Given the description of an element on the screen output the (x, y) to click on. 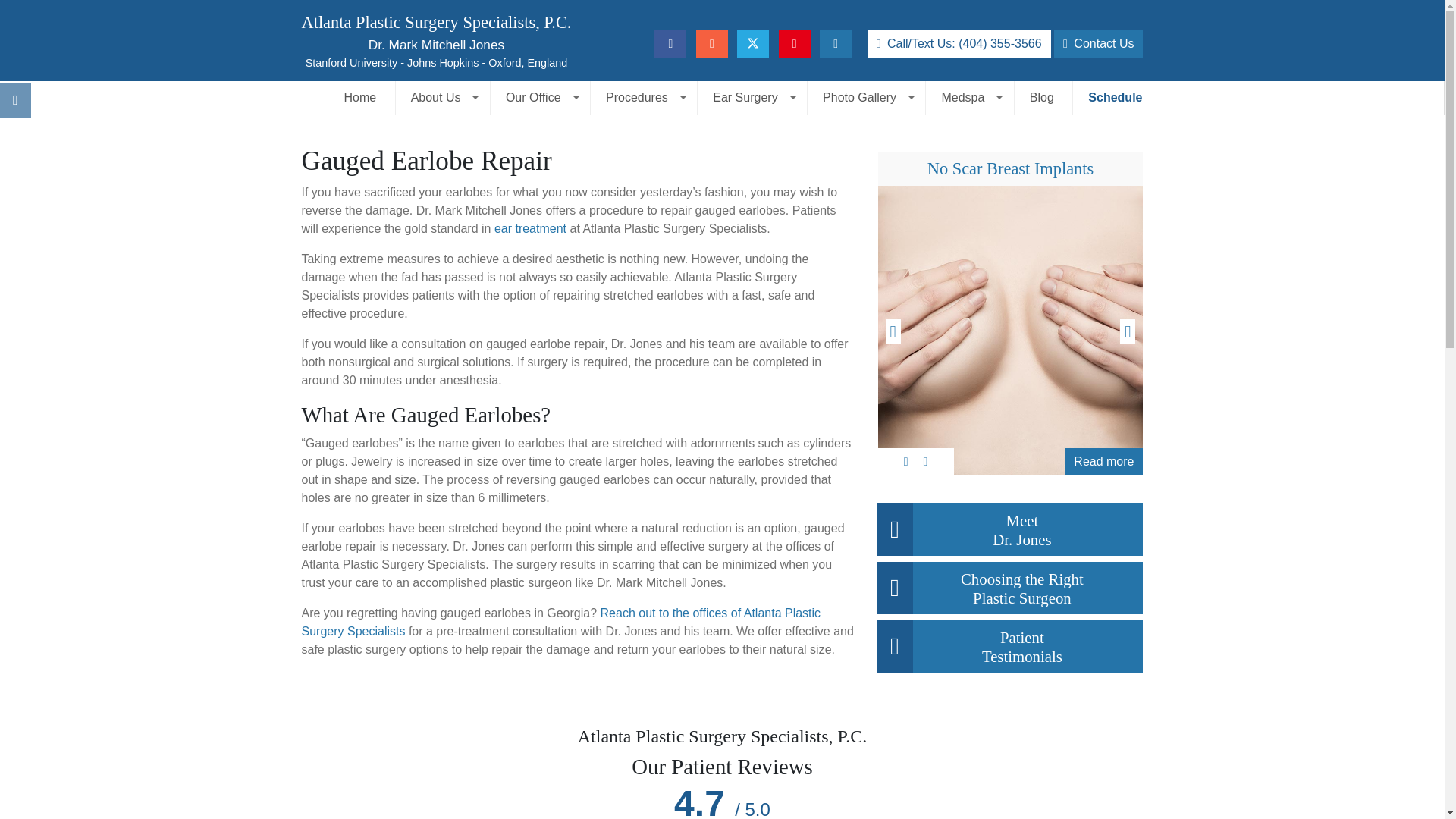
Skip to main content (10, 7)
Home (360, 97)
Contact Us (1098, 43)
Atlanta GA Cosmetic Ear Surgery (530, 228)
Contact Atlanta Plastic Surgery Specialists (561, 622)
